Given the description of an element on the screen output the (x, y) to click on. 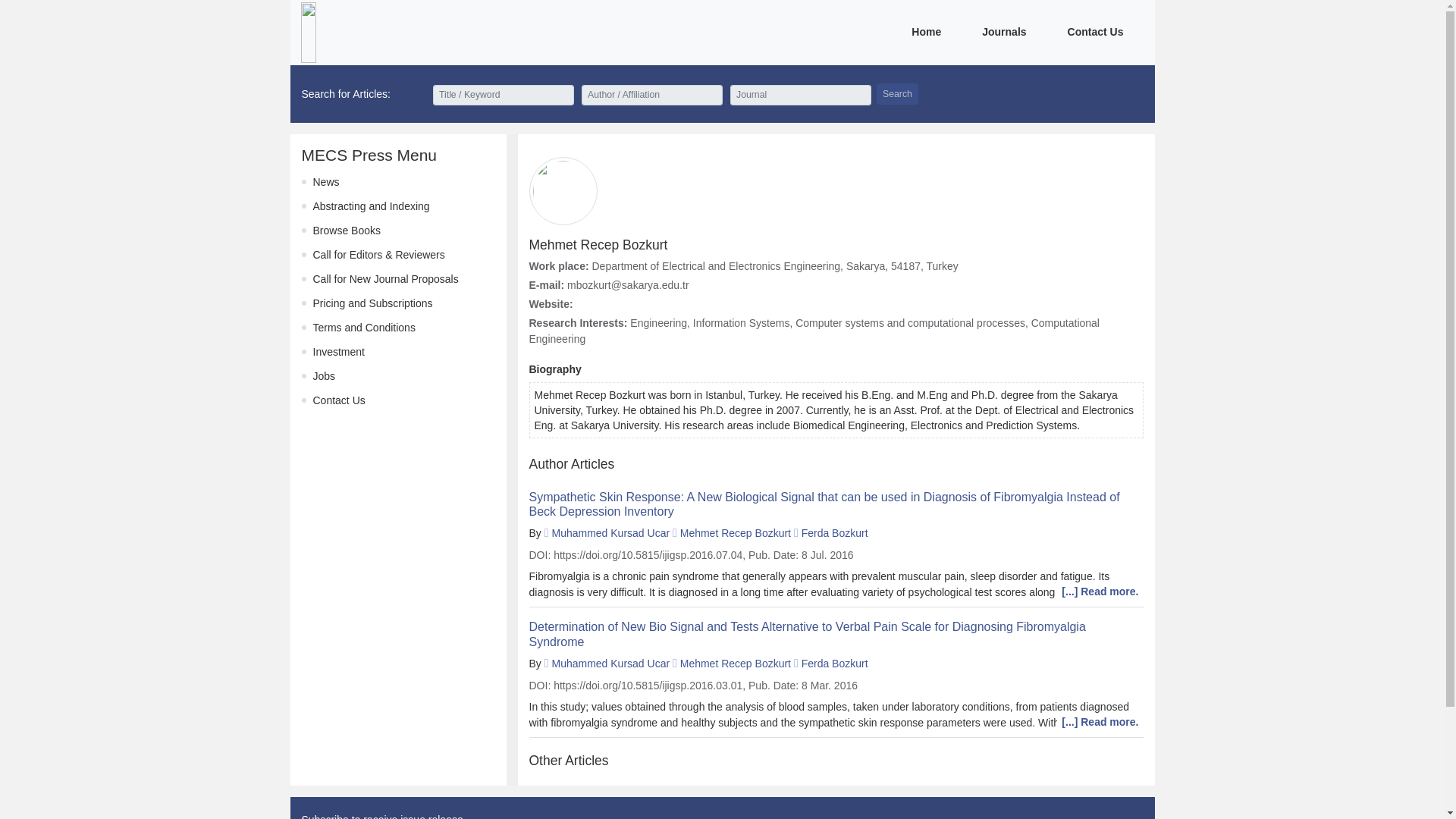
Abstracting and Indexing (371, 205)
Call for New Journal Proposals (385, 278)
Pricing and Subscriptions (372, 303)
Muhammed Kursad Ucar (610, 663)
Muhammed Kursad Ucar (610, 532)
Ferda Bozkurt (834, 663)
Search (897, 93)
Jobs (323, 376)
